Given the description of an element on the screen output the (x, y) to click on. 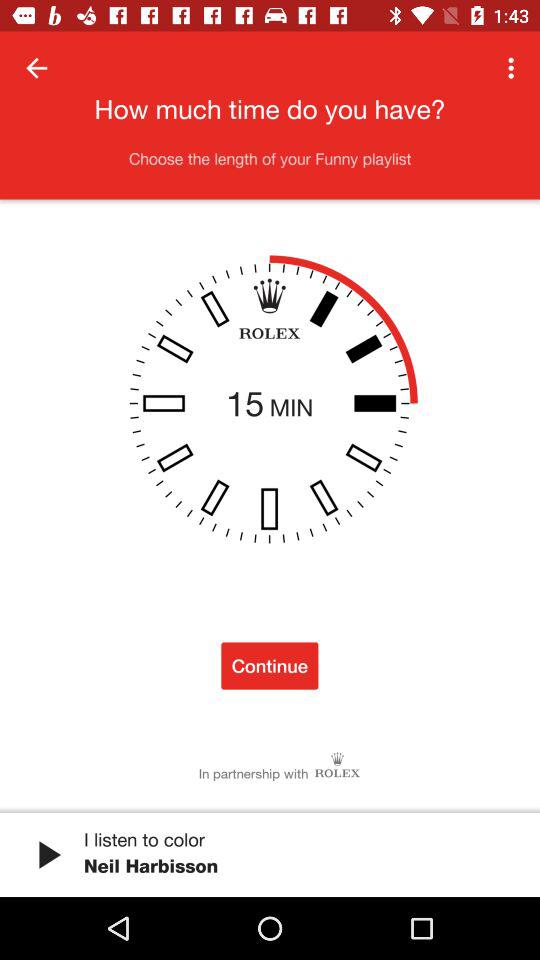
launch the icon at the top left corner (36, 68)
